Given the description of an element on the screen output the (x, y) to click on. 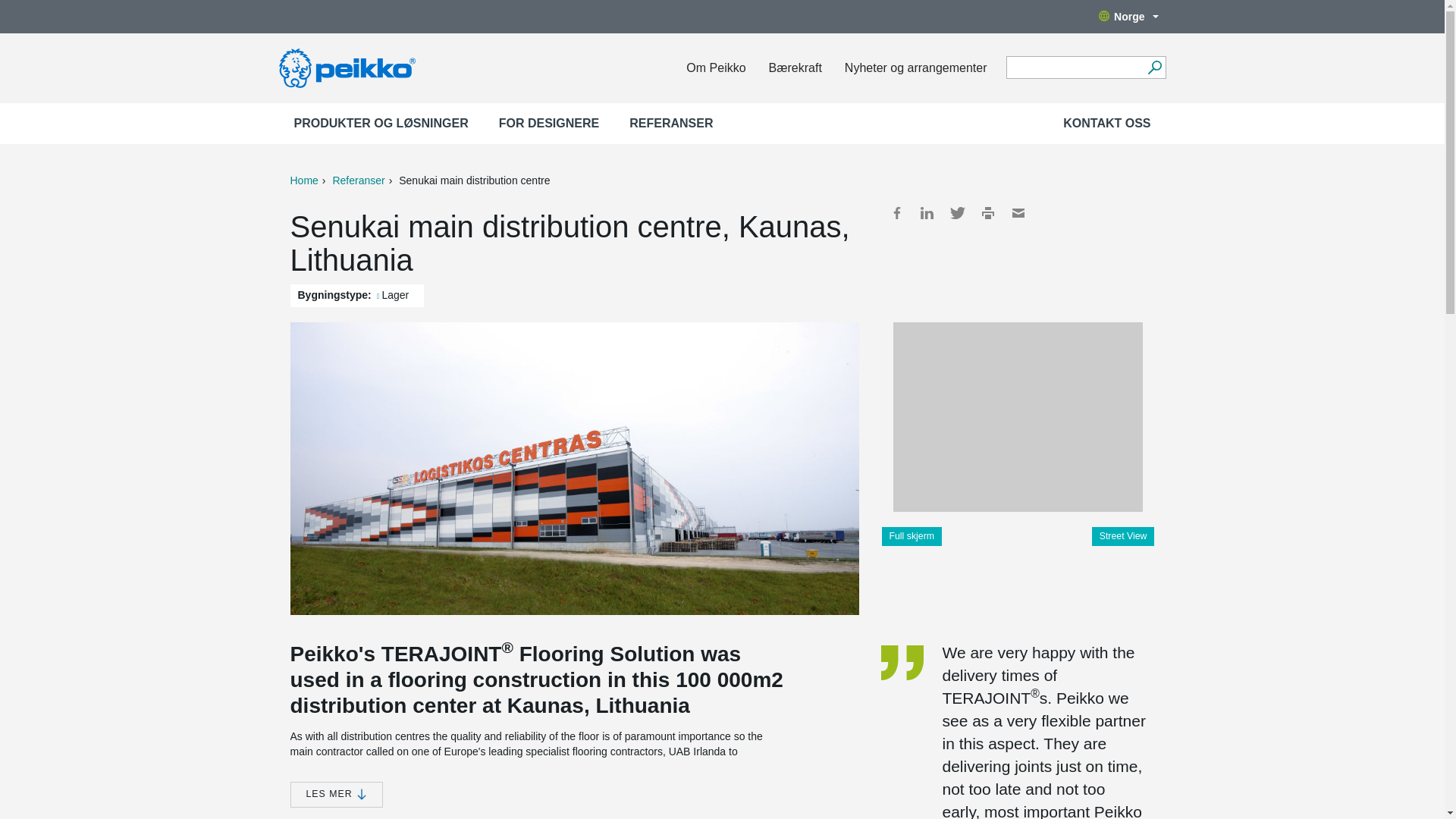
Email link (1017, 212)
Norge (1128, 16)
